Given the description of an element on the screen output the (x, y) to click on. 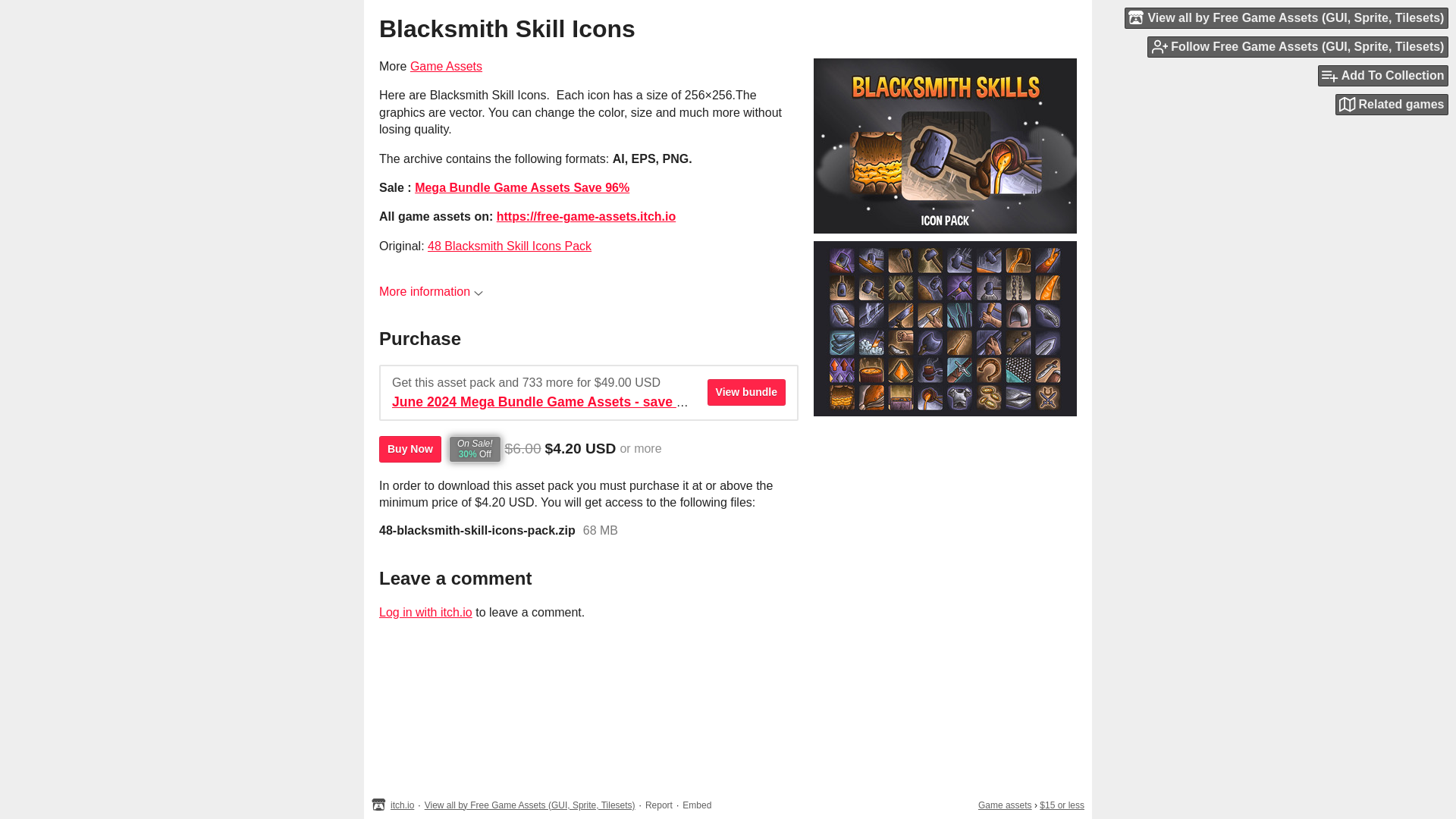
Add To Collection (1382, 75)
Log in with itch.io (424, 612)
Report (658, 804)
Related games (1391, 104)
Game assets (1005, 804)
Buy Now (409, 448)
View bundle (746, 392)
More information (430, 291)
48 Blacksmith Skill Icons Pack (509, 245)
itch.io (401, 804)
Embed (696, 804)
Game Assets (445, 65)
48-blacksmith-skill-icons-pack.zip (476, 530)
